Given the description of an element on the screen output the (x, y) to click on. 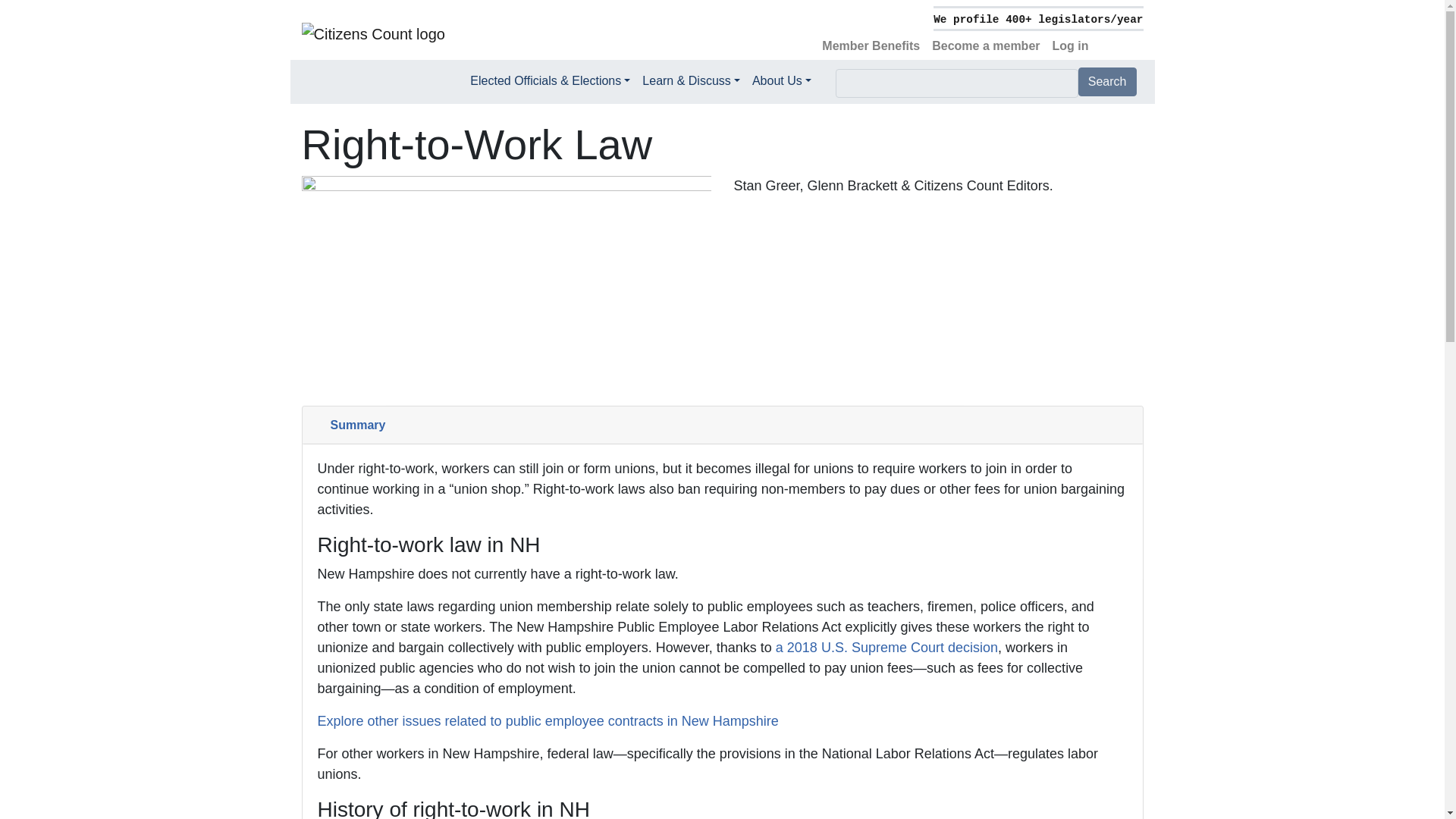
Become a member (985, 46)
Search (1107, 81)
Search (1107, 81)
Member Benefits (870, 46)
Visit us on Reddit (1125, 37)
Visit us on Instagram (1136, 37)
Visit our Facebook page (1100, 37)
Log in (1070, 46)
